Given the description of an element on the screen output the (x, y) to click on. 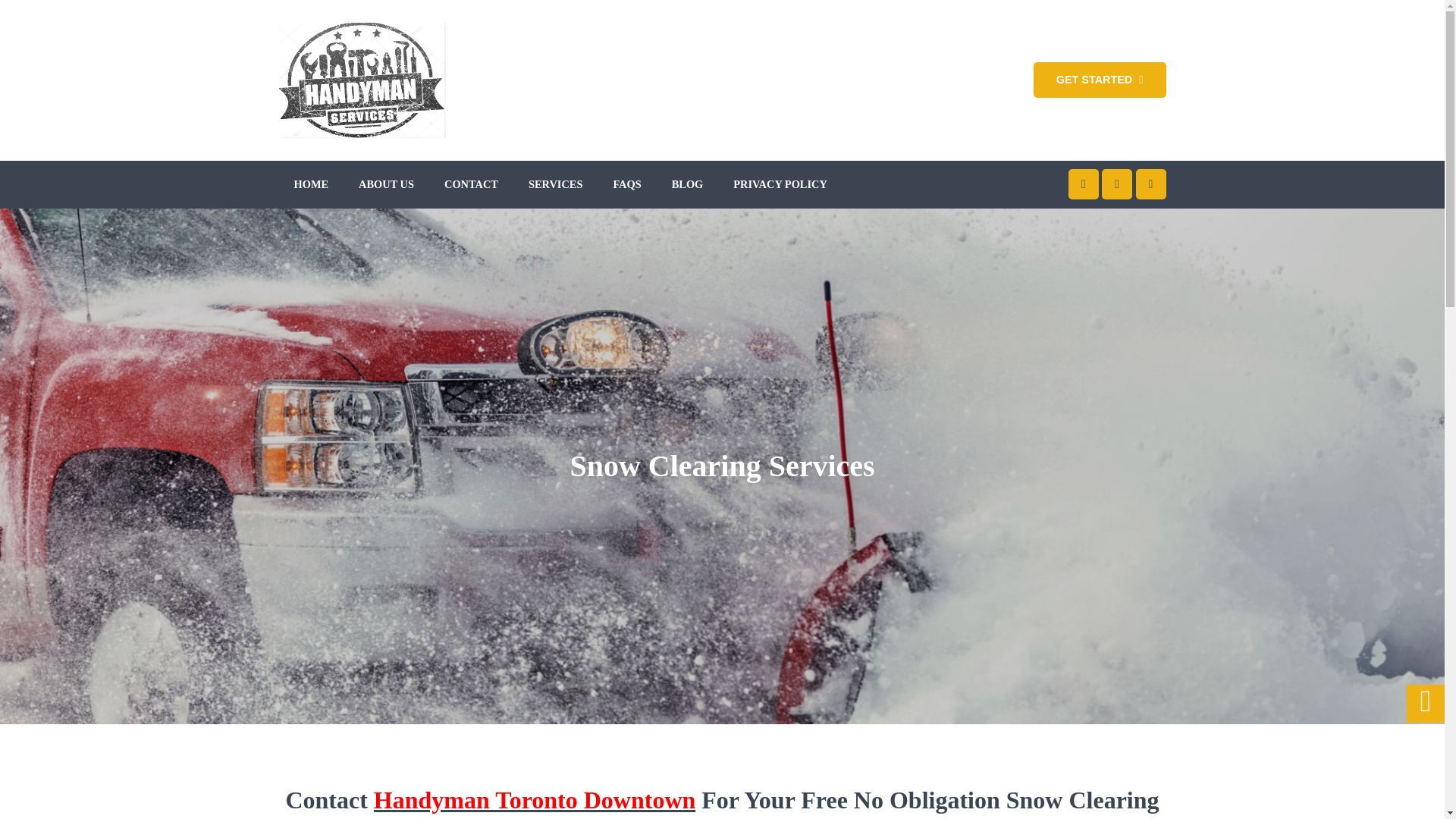
GET STARTED (1099, 79)
Handyman Toronto Downtown (534, 800)
PRIVACY POLICY (779, 184)
CONTACT (470, 184)
BLOG (687, 184)
HOME (311, 184)
FAQS (626, 184)
ABOUT US (386, 184)
SERVICES (555, 184)
